Given the description of an element on the screen output the (x, y) to click on. 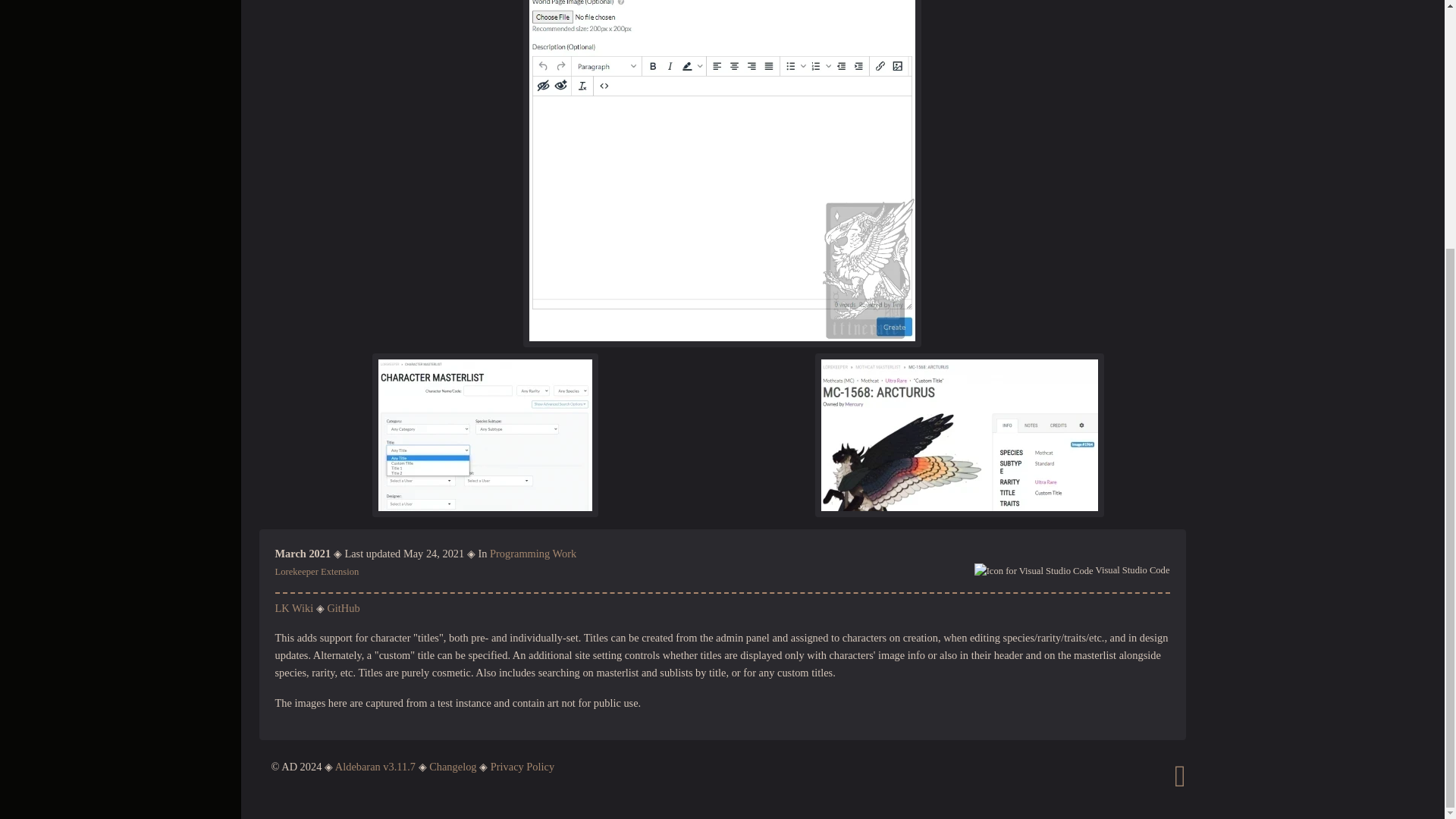
Programming Work (532, 553)
Changelog (452, 766)
Privacy Policy (522, 766)
Lorekeeper Extension (316, 571)
Aldebaran v3.11.7 (374, 766)
GitHub (342, 607)
LK Wiki (294, 607)
